Given the description of an element on the screen output the (x, y) to click on. 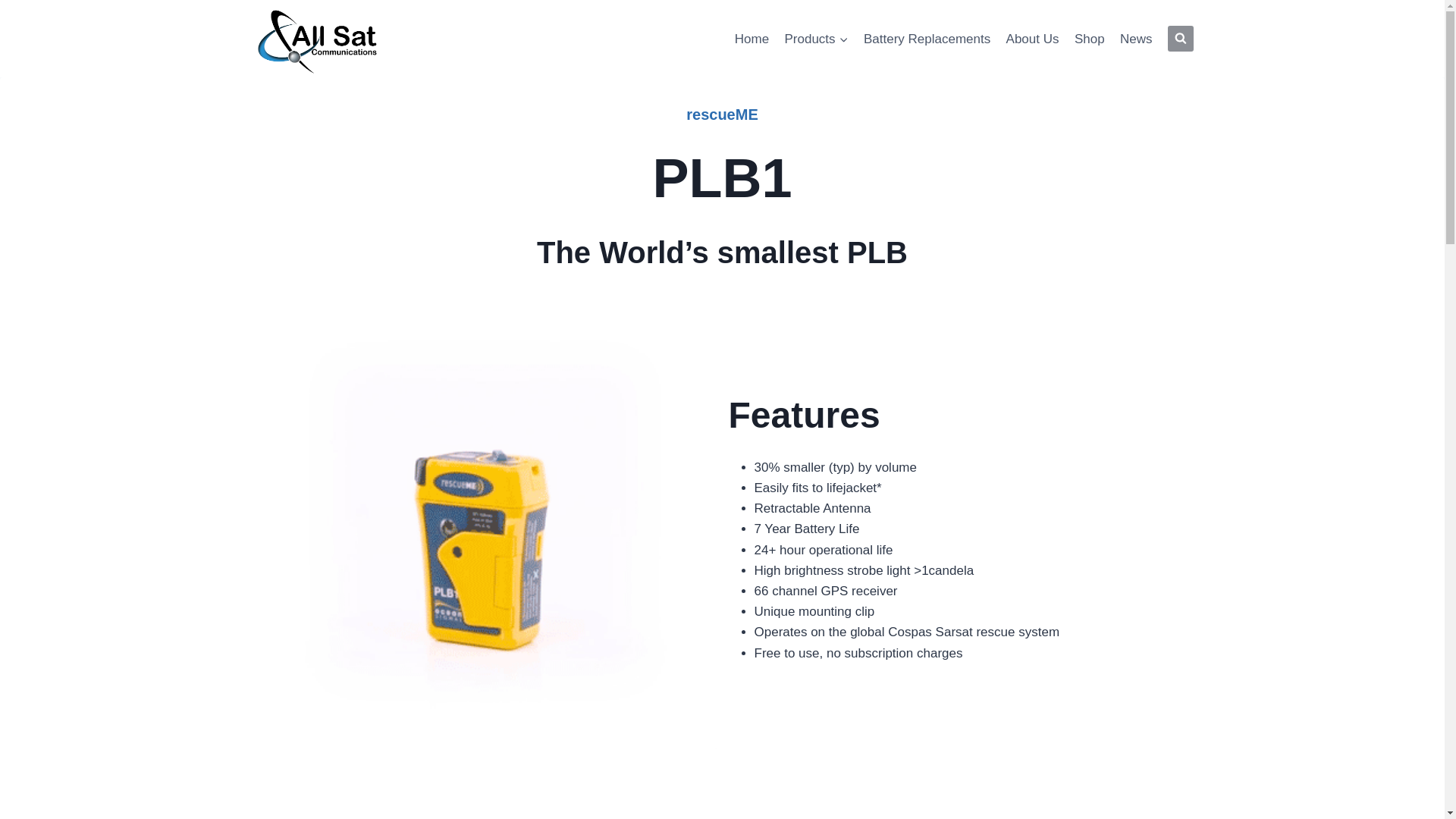
Home (751, 38)
Products (816, 38)
Battery Replacements (927, 38)
About Us (1031, 38)
Shop (1089, 38)
